Given the description of an element on the screen output the (x, y) to click on. 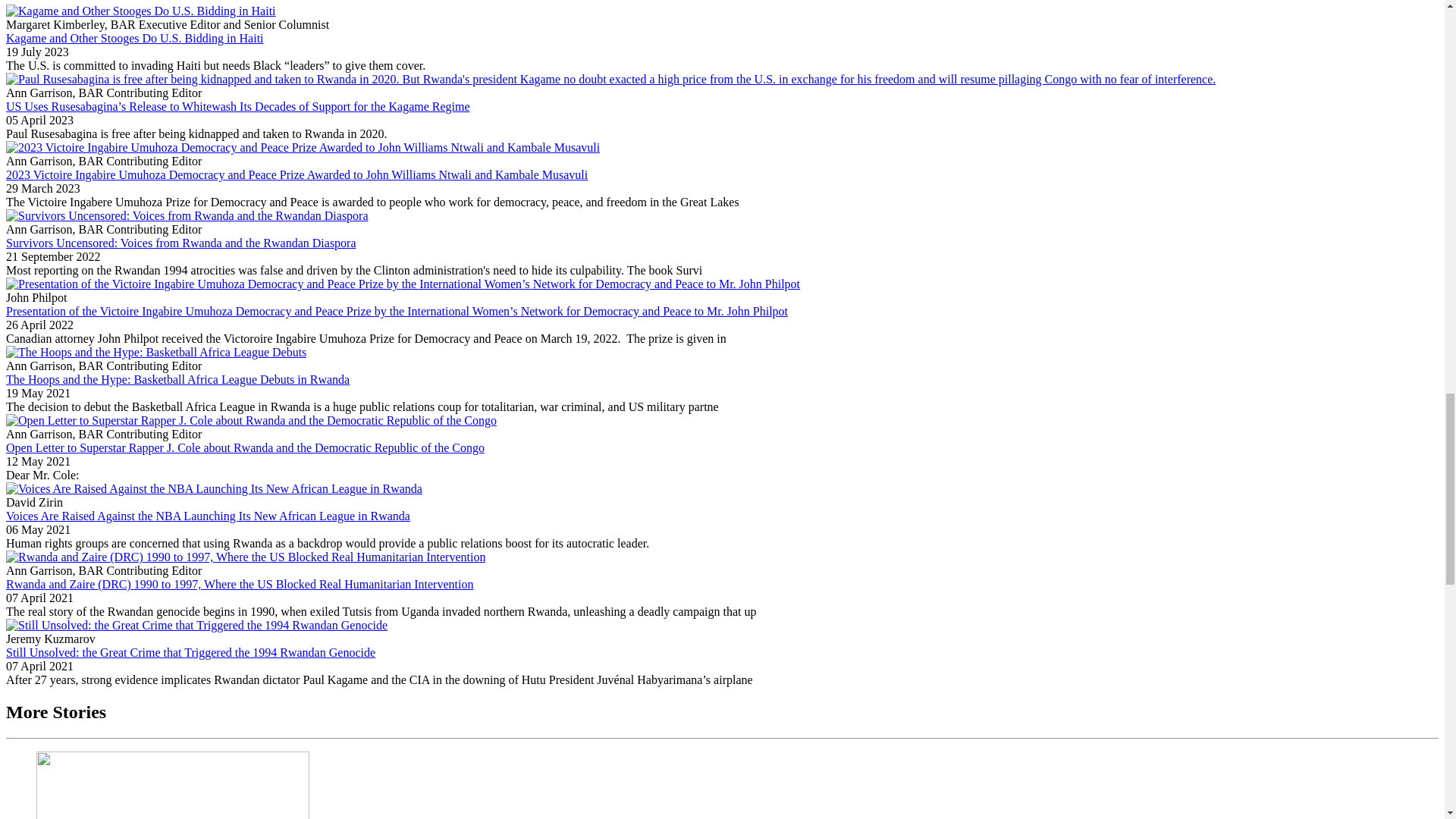
Kagame and Other Stooges Do U.S. Bidding in Haiti (134, 38)
